Given the description of an element on the screen output the (x, y) to click on. 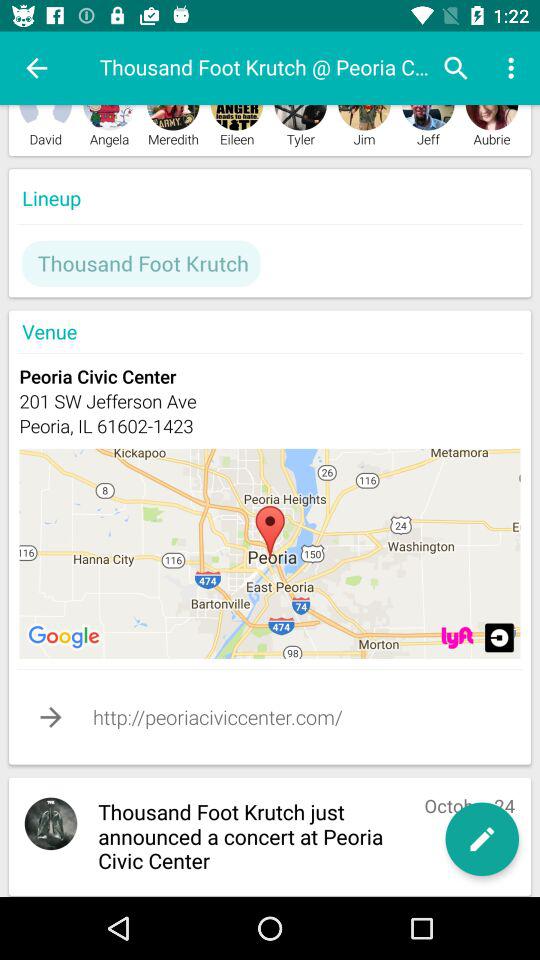
go to edit option (482, 839)
